Given the description of an element on the screen output the (x, y) to click on. 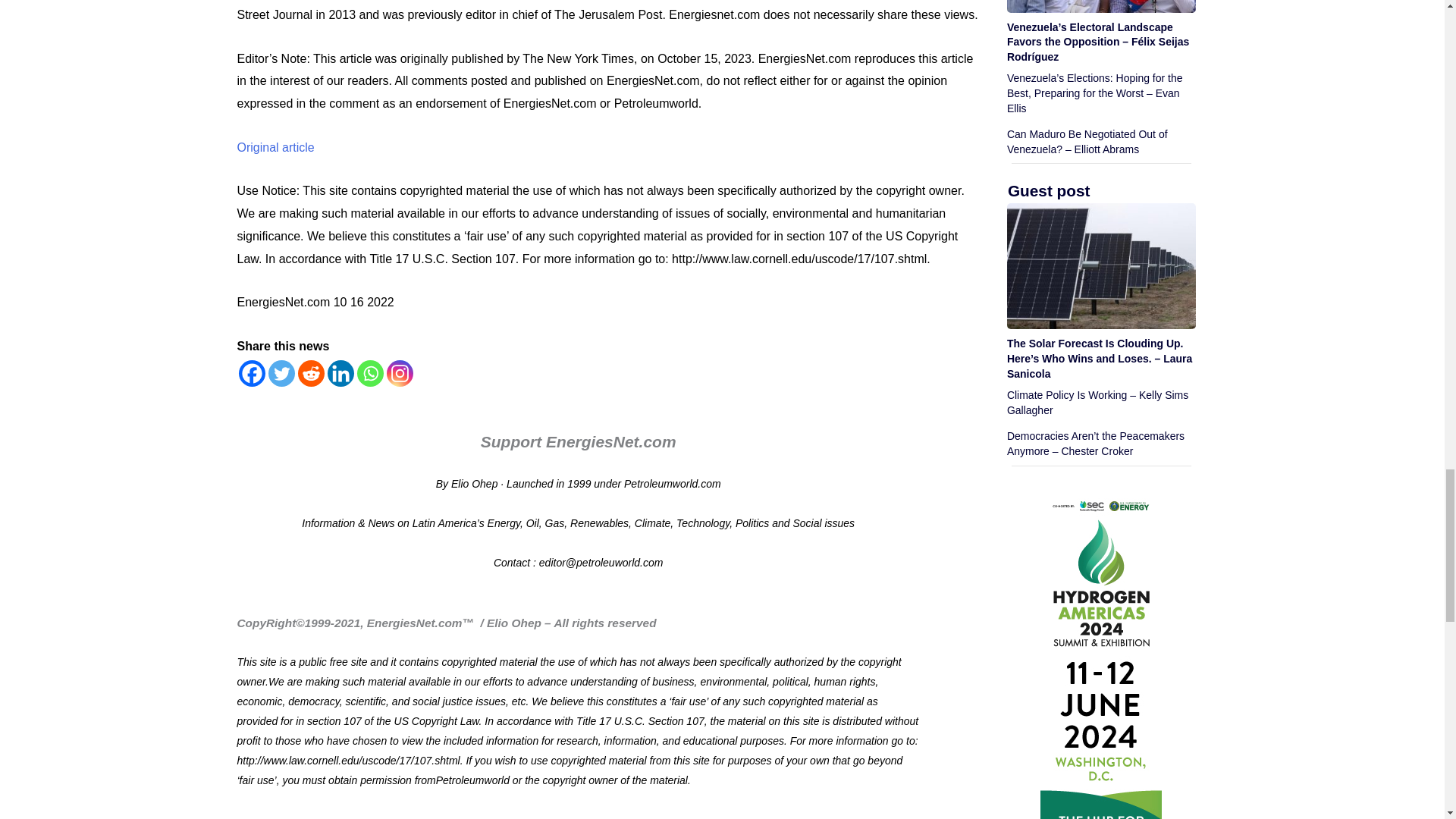
Facebook (251, 373)
Instagram (400, 373)
Reddit (310, 373)
Whatsapp (369, 373)
Twitter (281, 373)
Linkedin (340, 373)
